Given the description of an element on the screen output the (x, y) to click on. 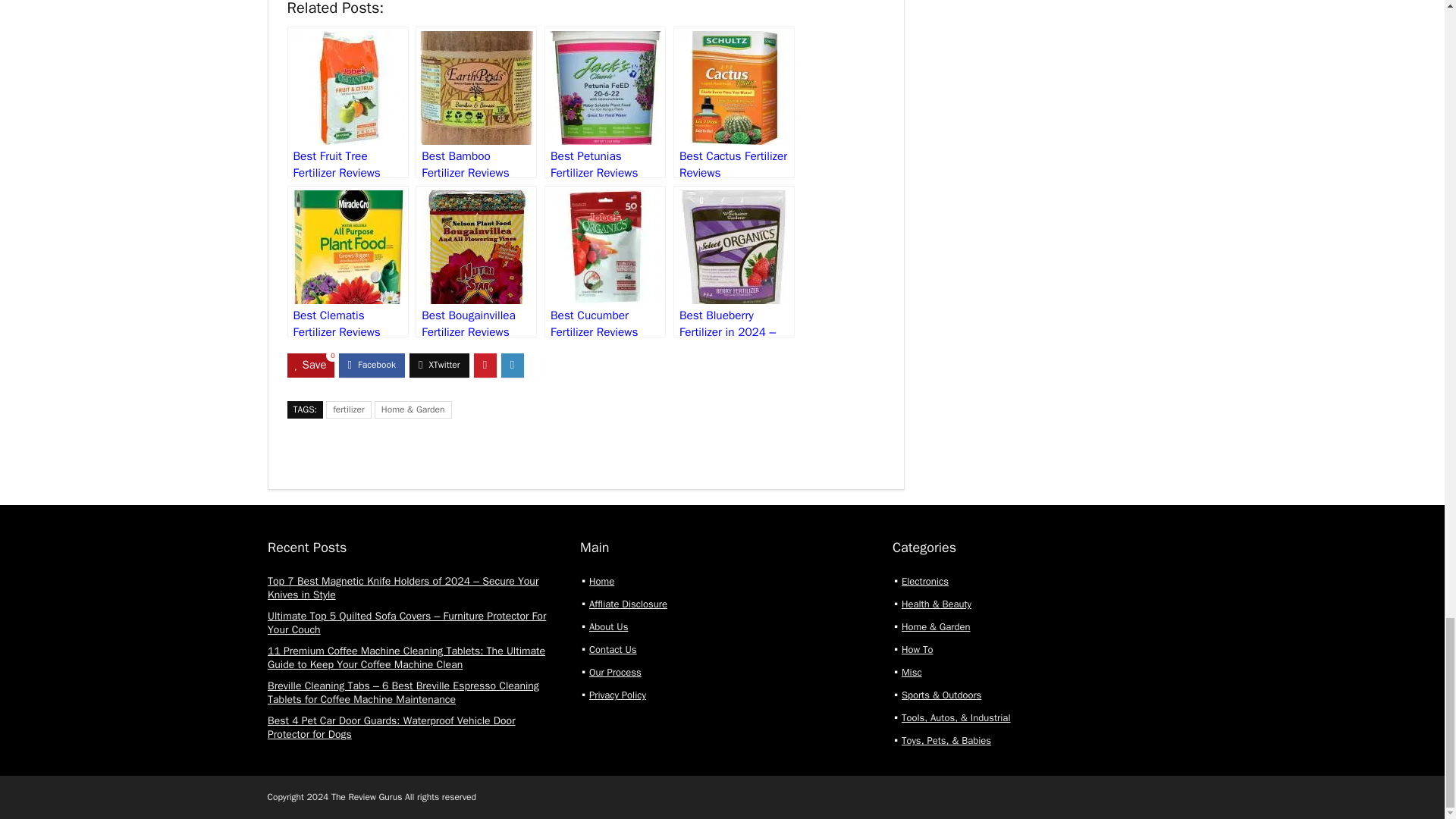
Best Bougainvillea Fertilizer Reviews (475, 261)
fertilizer (348, 409)
Best Petunias Fertilizer Reviews (604, 102)
Best Bamboo Fertilizer Reviews (475, 102)
Best Bamboo Fertilizer Reviews (475, 102)
Best Fruit Tree Fertilizer Reviews (346, 102)
Best Cactus Fertilizer Reviews (733, 102)
Best Cucumber Fertilizer Reviews (604, 261)
Best Clematis Fertilizer Reviews (346, 261)
Best Petunias Fertilizer Reviews (604, 102)
Best Clematis Fertilizer Reviews (346, 261)
Best Cactus Fertilizer Reviews (733, 102)
Best Bougainvillea Fertilizer Reviews (475, 261)
Best Cucumber Fertilizer Reviews (604, 261)
Best Fruit Tree Fertilizer Reviews (346, 102)
